Given the description of an element on the screen output the (x, y) to click on. 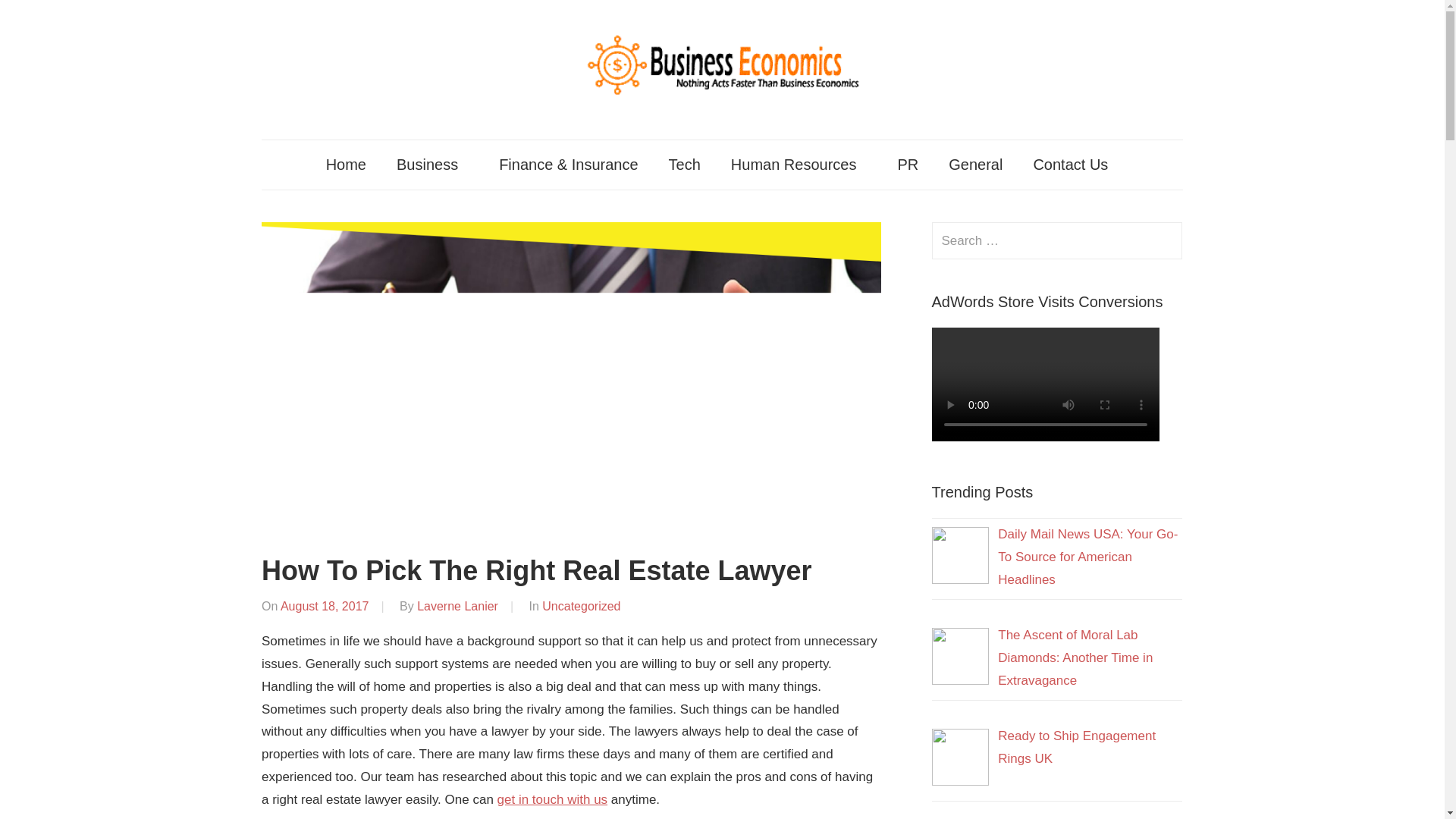
11:01 am (325, 605)
PR (907, 164)
Uncategorized (580, 605)
Search for: (1056, 240)
View all posts by Laverne Lanier (456, 605)
get in touch with us (552, 799)
Business (432, 164)
Laverne Lanier (456, 605)
